Given the description of an element on the screen output the (x, y) to click on. 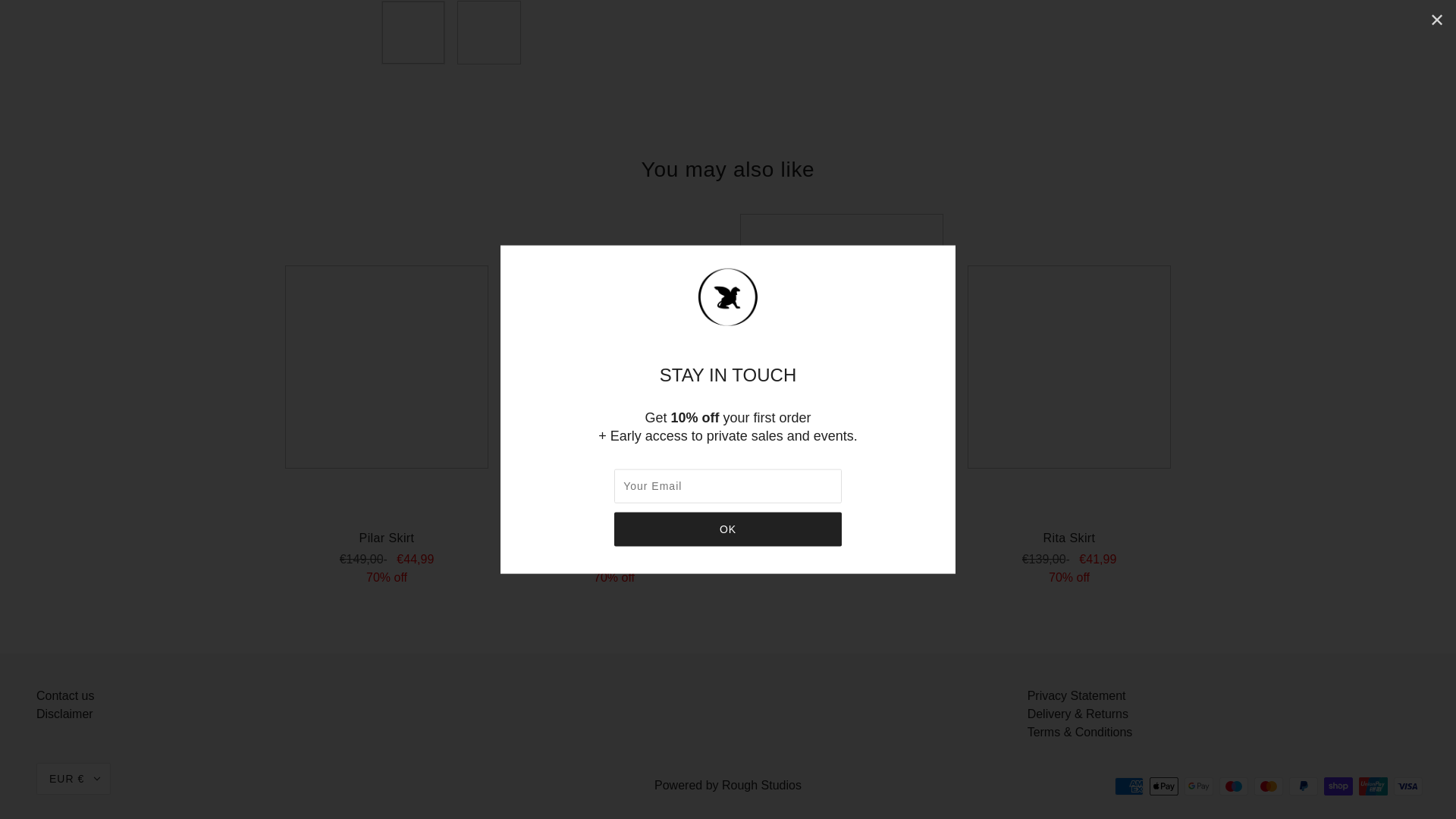
Apple Pay (1163, 786)
Google Pay (1198, 786)
Shop Pay (1337, 786)
Union Pay (1372, 786)
Visa (1407, 786)
PayPal (1302, 786)
American Express (1128, 786)
Maestro (1233, 786)
Mastercard (1267, 786)
